Given the description of an element on the screen output the (x, y) to click on. 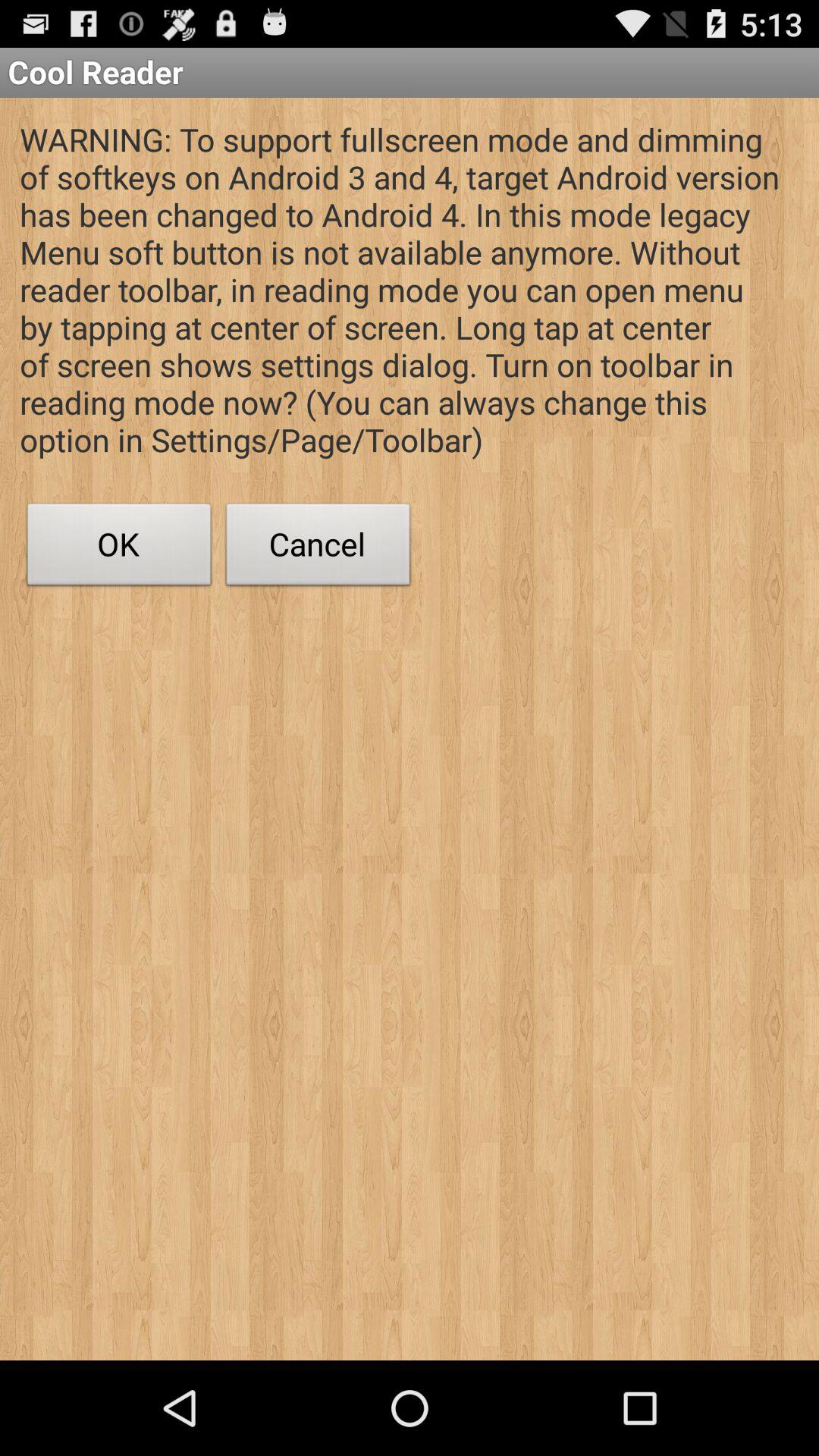
select icon below warning to support (318, 548)
